Given the description of an element on the screen output the (x, y) to click on. 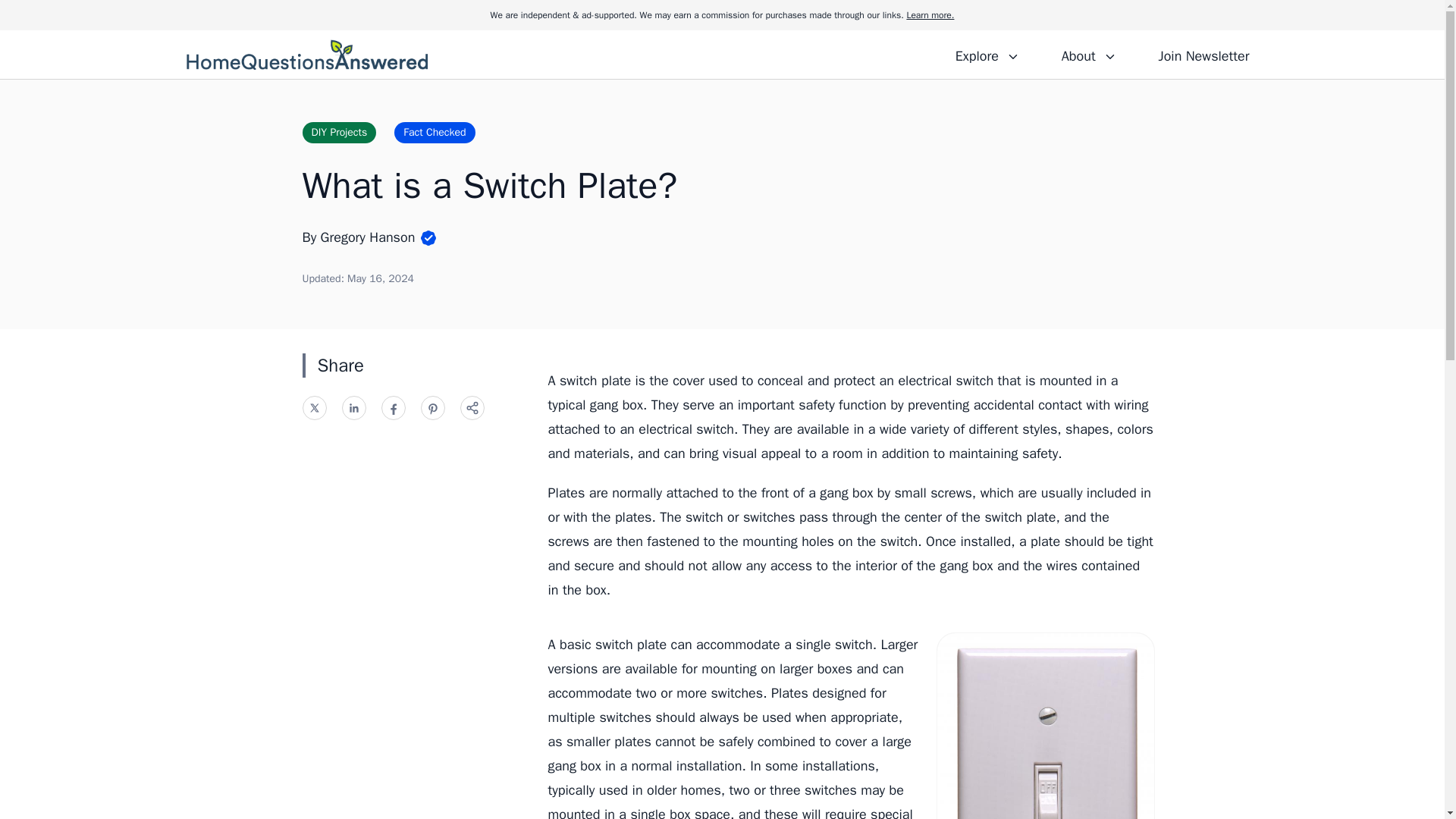
Explore (986, 54)
Fact Checked (434, 132)
Join Newsletter (1202, 54)
About (1088, 54)
Learn more. (929, 15)
DIY Projects (338, 132)
